Given the description of an element on the screen output the (x, y) to click on. 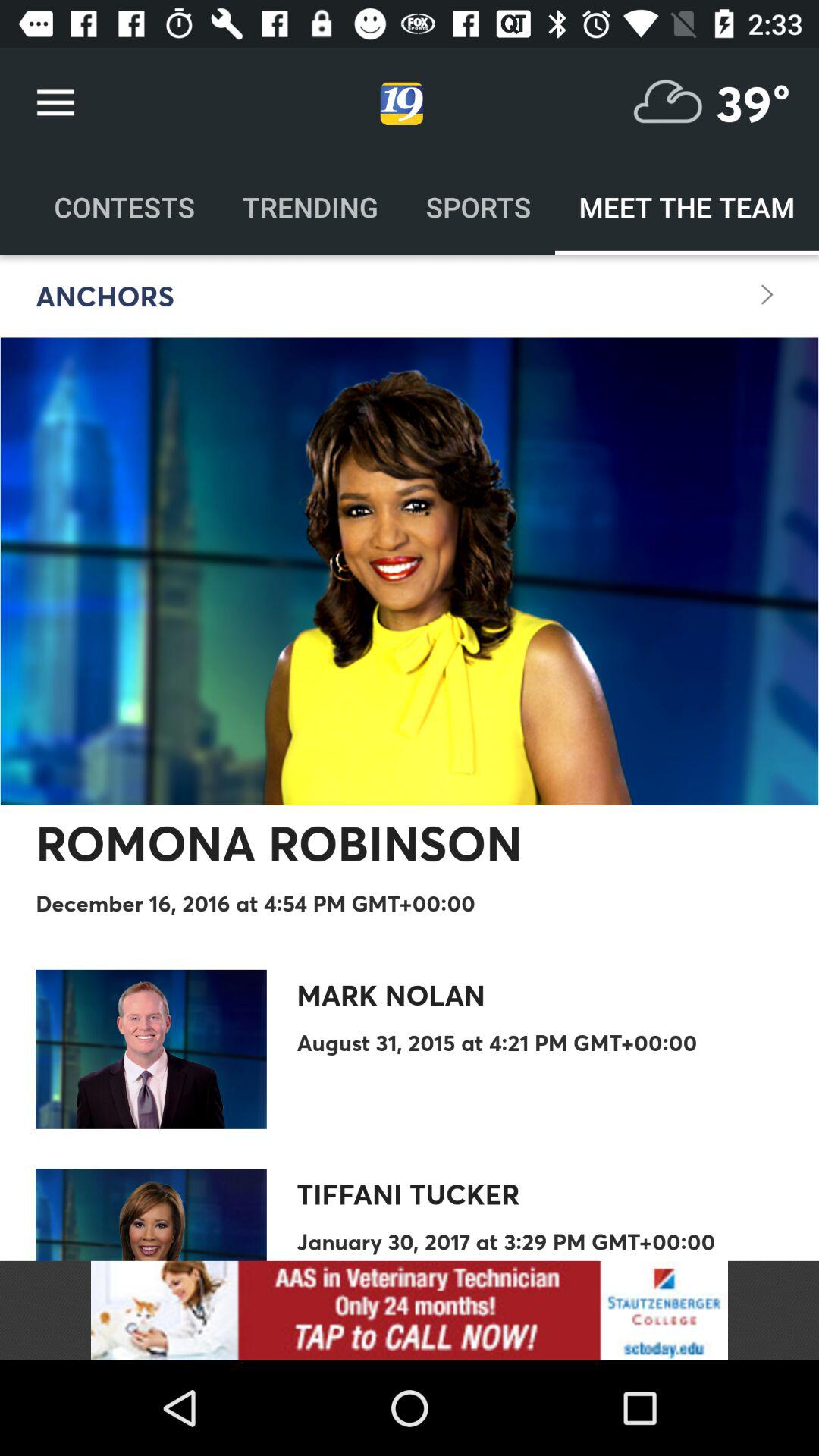
temperature (668, 103)
